Given the description of an element on the screen output the (x, y) to click on. 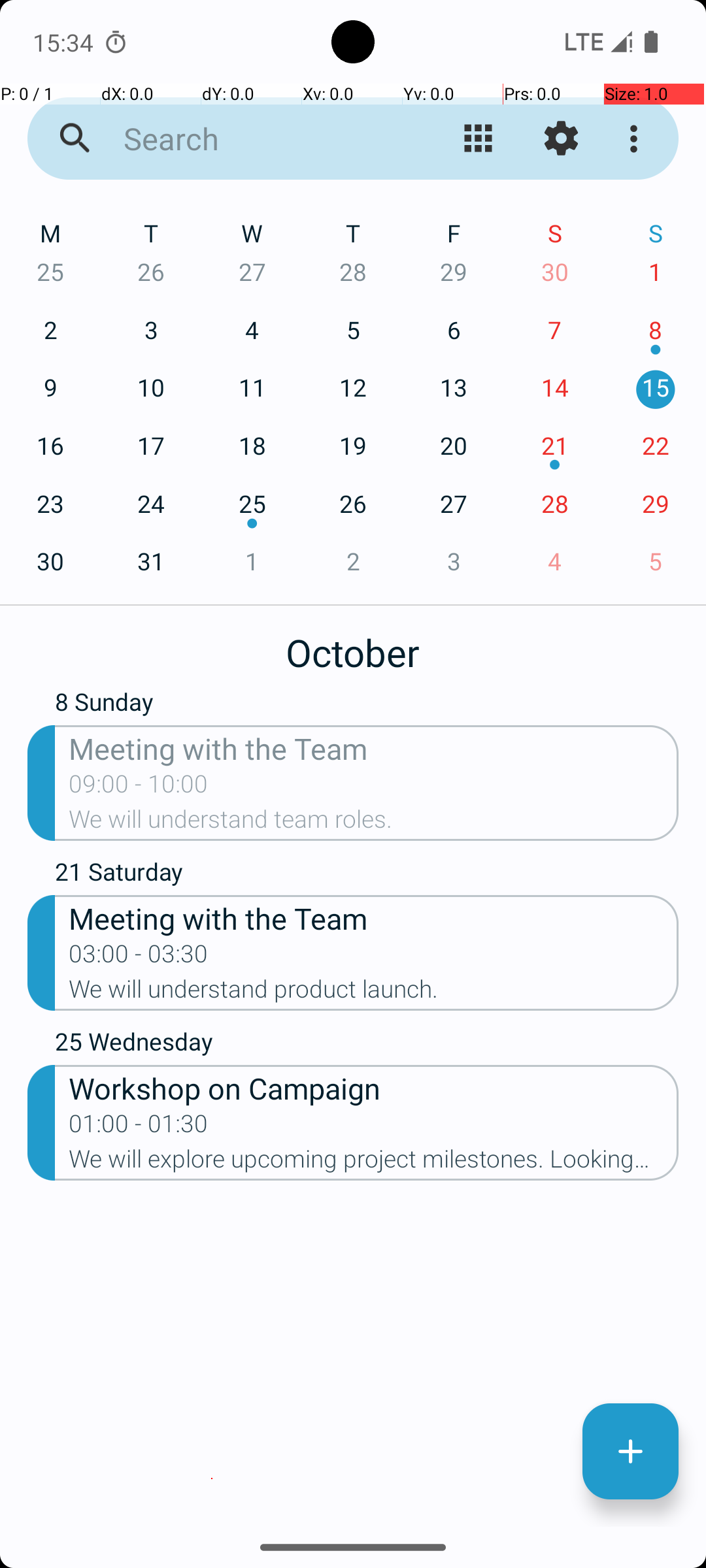
8 Sunday Element type: android.widget.TextView (366, 704)
21 Saturday Element type: android.widget.TextView (366, 874)
25 Wednesday Element type: android.widget.TextView (366, 1044)
Meeting with the Team Element type: android.widget.TextView (373, 747)
09:00 - 10:00 Element type: android.widget.TextView (137, 787)
We will understand team roles. Element type: android.widget.TextView (373, 822)
03:00 - 03:30 Element type: android.widget.TextView (137, 957)
We will understand product launch. Element type: android.widget.TextView (373, 992)
01:00 - 01:30 Element type: android.widget.TextView (137, 1127)
We will explore upcoming project milestones. Looking forward to productive discussions. Element type: android.widget.TextView (373, 1162)
